Given the description of an element on the screen output the (x, y) to click on. 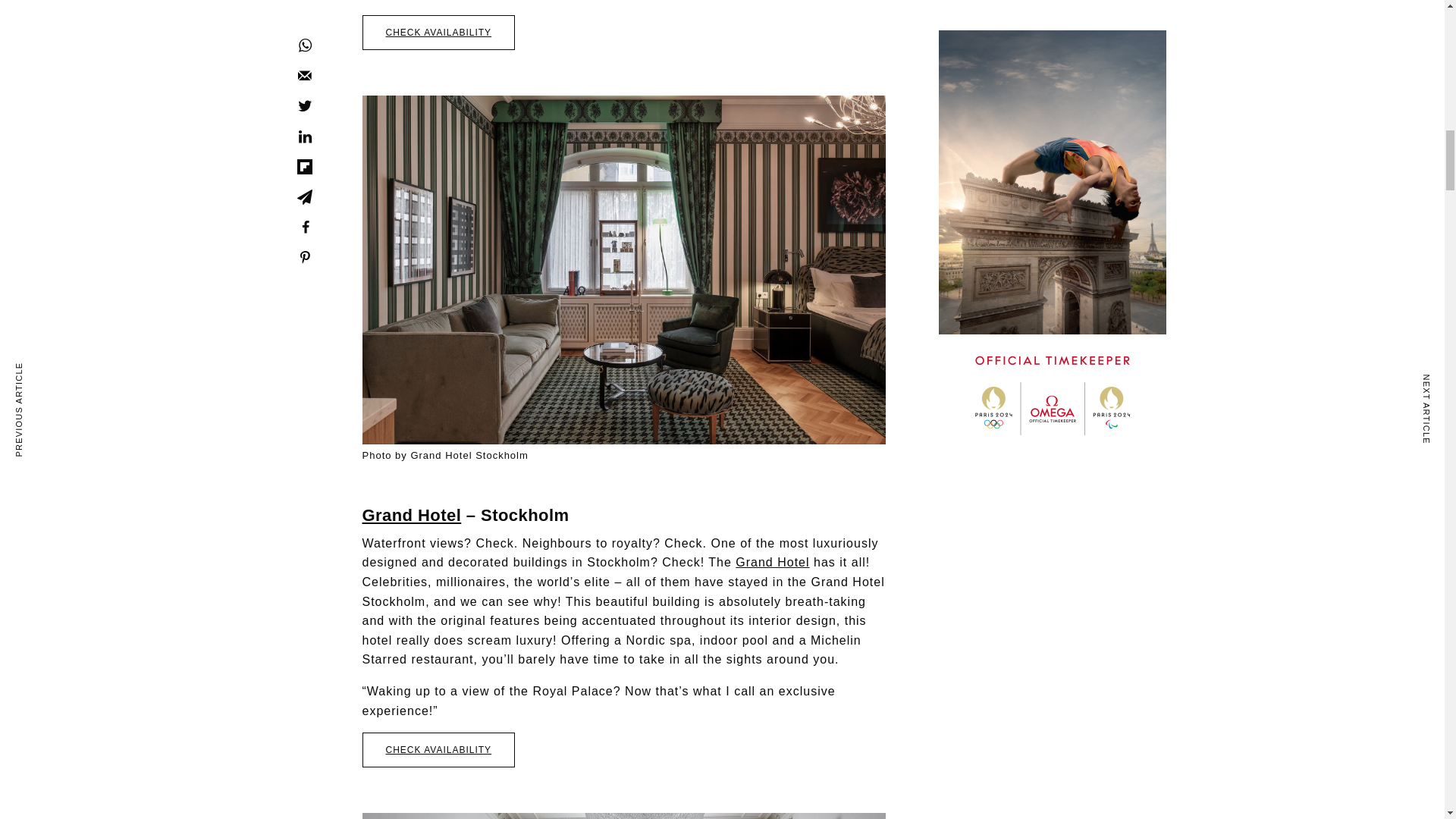
CHECK AVAILABILITY (438, 749)
CHECK AVAILABILITY (438, 32)
Grand Hotel (772, 562)
Grand Hotel (411, 515)
